Given the description of an element on the screen output the (x, y) to click on. 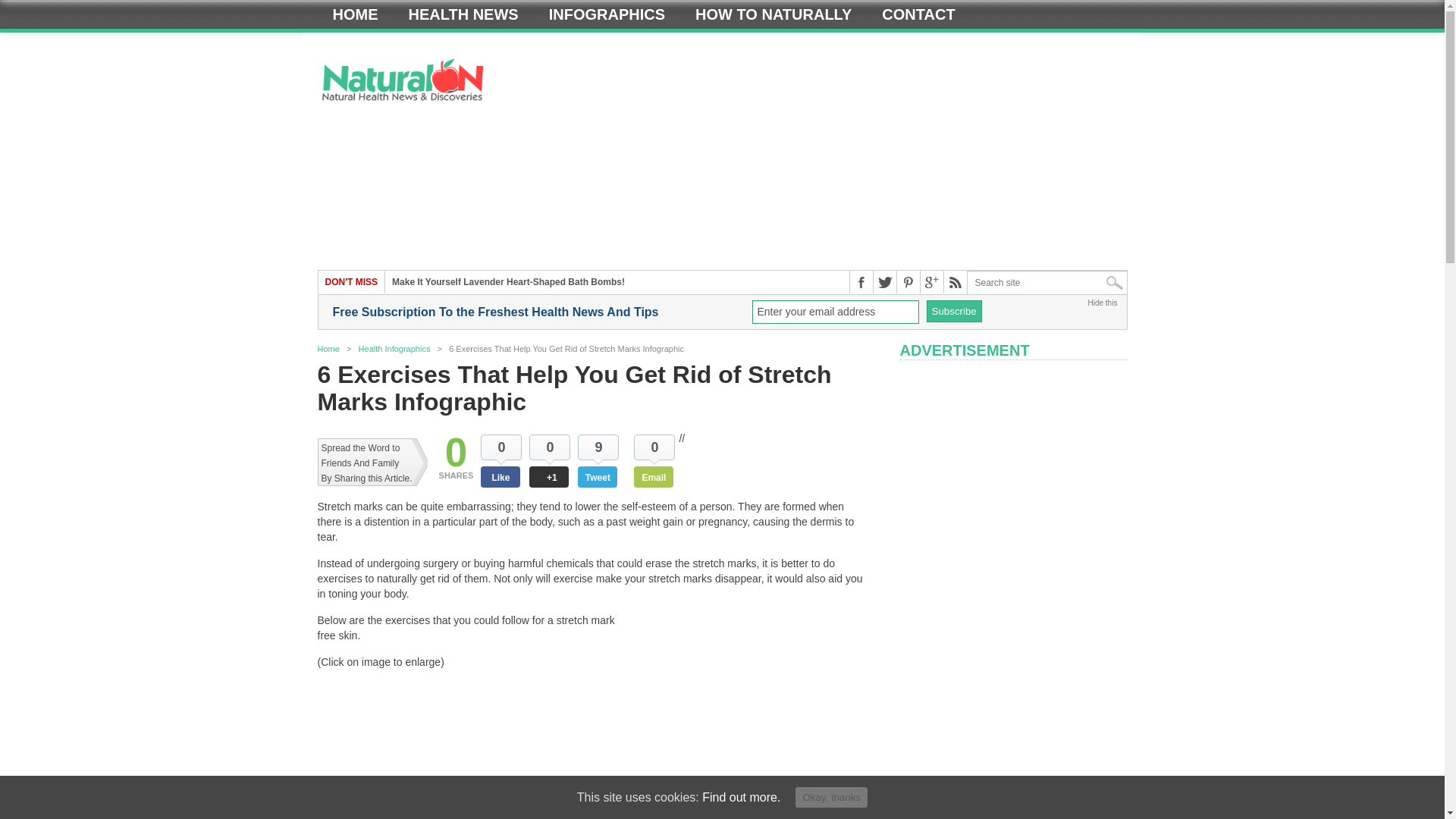
Health Infographics (394, 347)
0 (500, 447)
Home (328, 347)
Home (355, 14)
How to Naturally (772, 14)
0 (456, 452)
INFOGRAPHICS (606, 14)
HEALTH NEWS (462, 14)
SHARES (456, 476)
Health News (462, 14)
9 (598, 447)
CONTACT (917, 14)
Make It Yourself Lavender Heart-Shaped Bath Bombs! (507, 281)
